Given the description of an element on the screen output the (x, y) to click on. 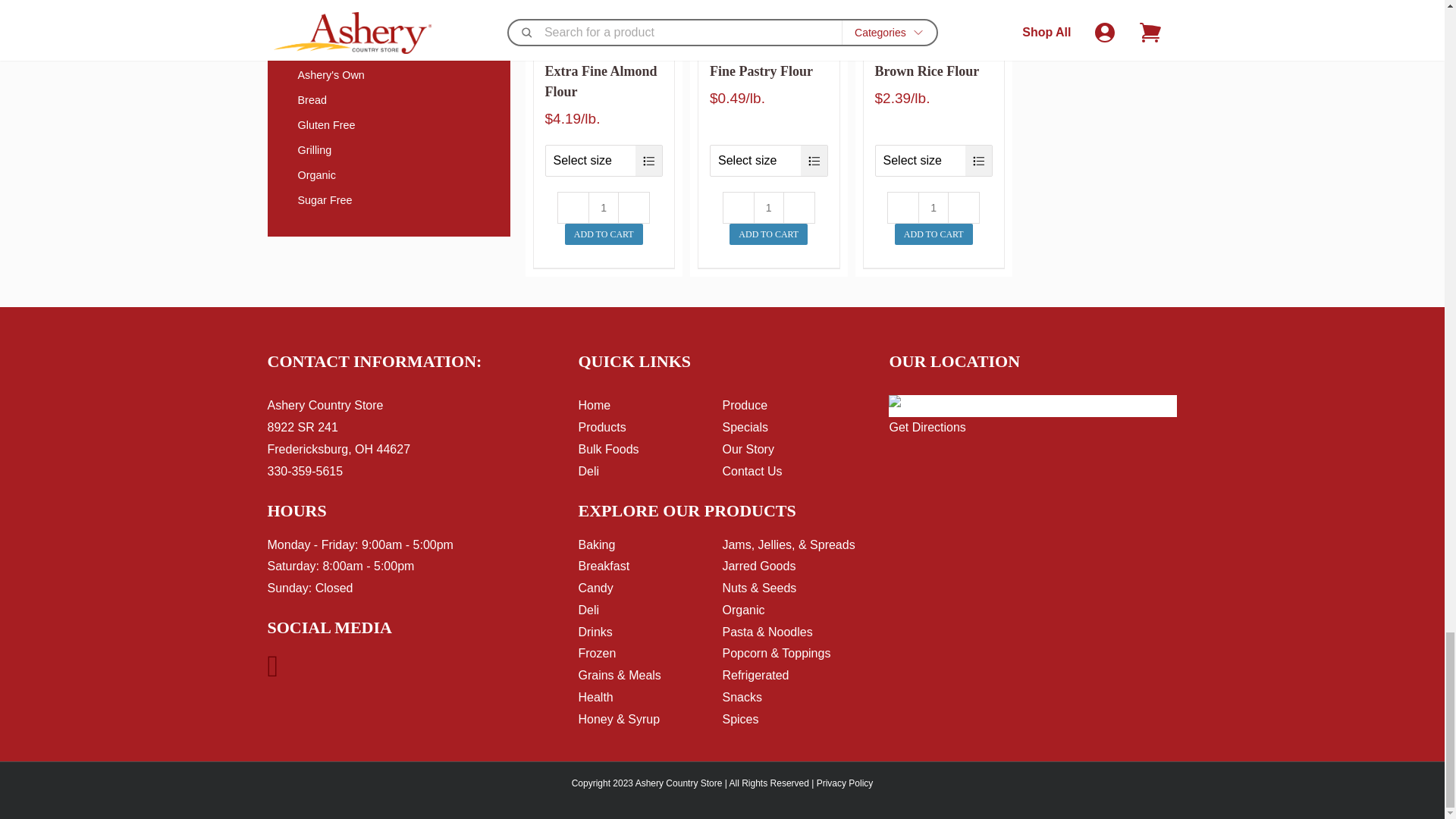
1 (603, 207)
1 (933, 207)
1 (769, 207)
